Given the description of an element on the screen output the (x, y) to click on. 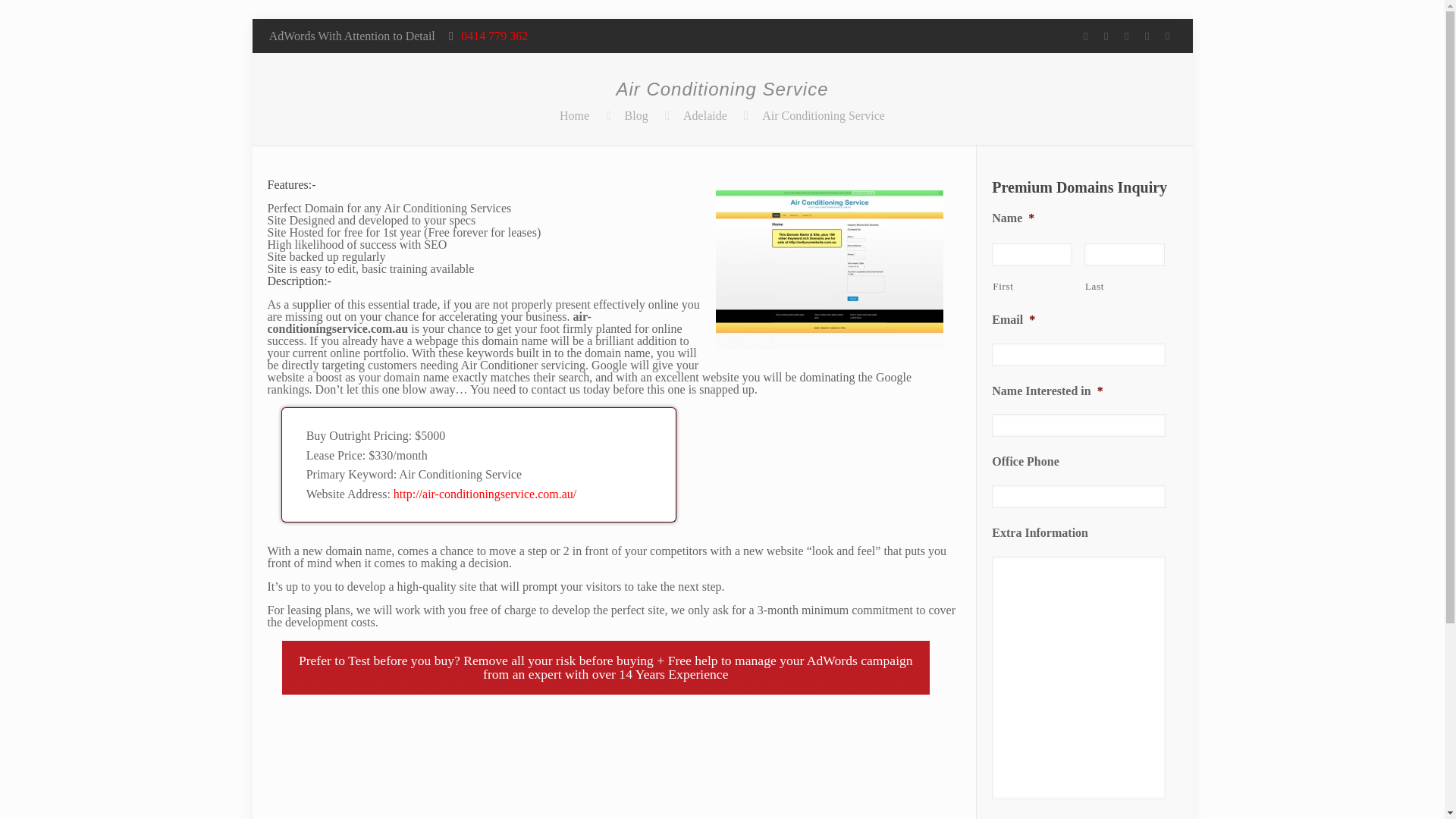
Skype (1085, 36)
Air Conditioning Service (823, 115)
YouTube (1146, 36)
Facebook (1105, 36)
Twitter (1126, 36)
Test Before Buying (403, 660)
Home (574, 115)
LinkedIn (1166, 36)
Adelaide (704, 115)
Test before you buy? (403, 660)
